Given the description of an element on the screen output the (x, y) to click on. 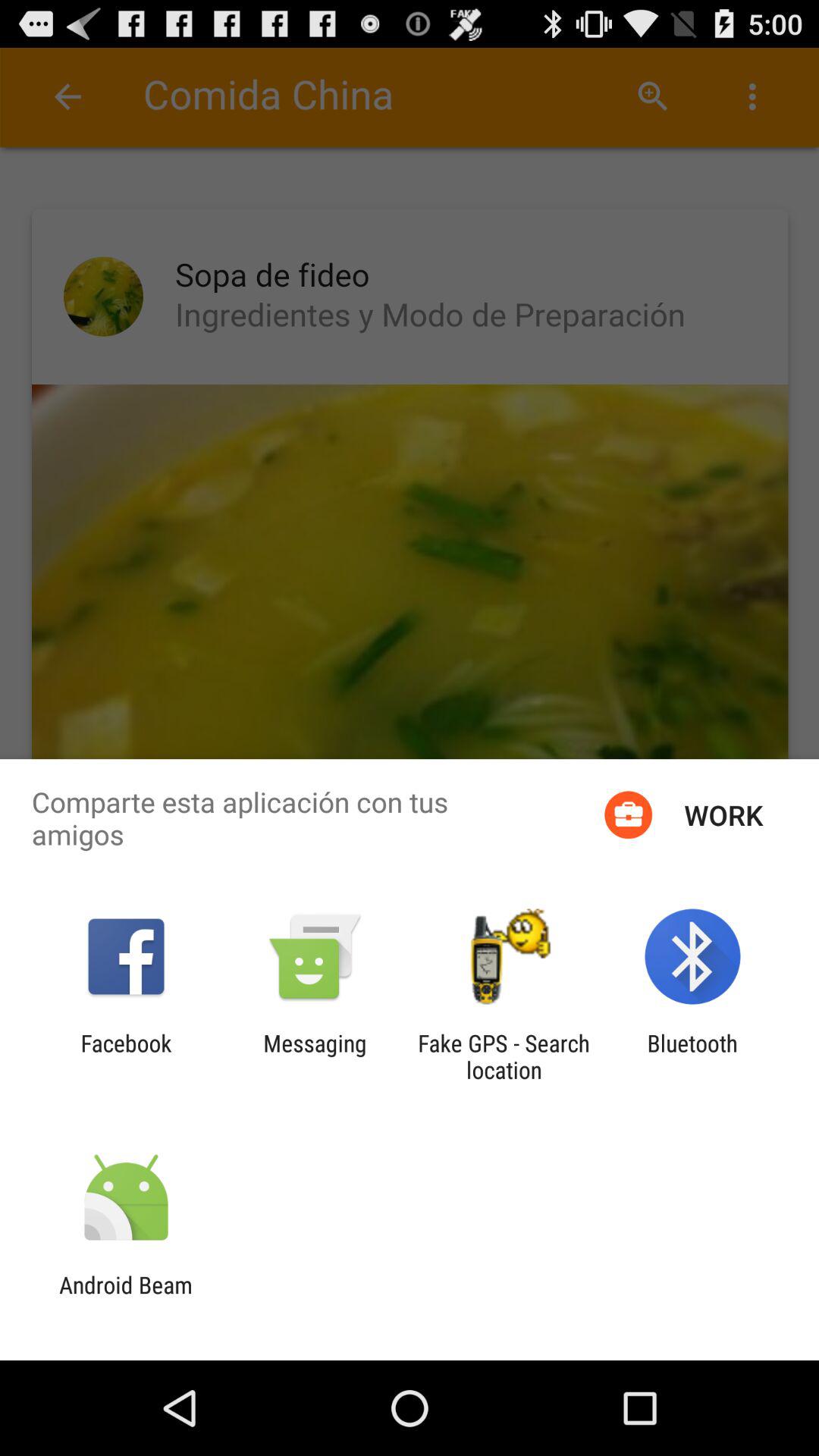
jump until the android beam (125, 1298)
